Given the description of an element on the screen output the (x, y) to click on. 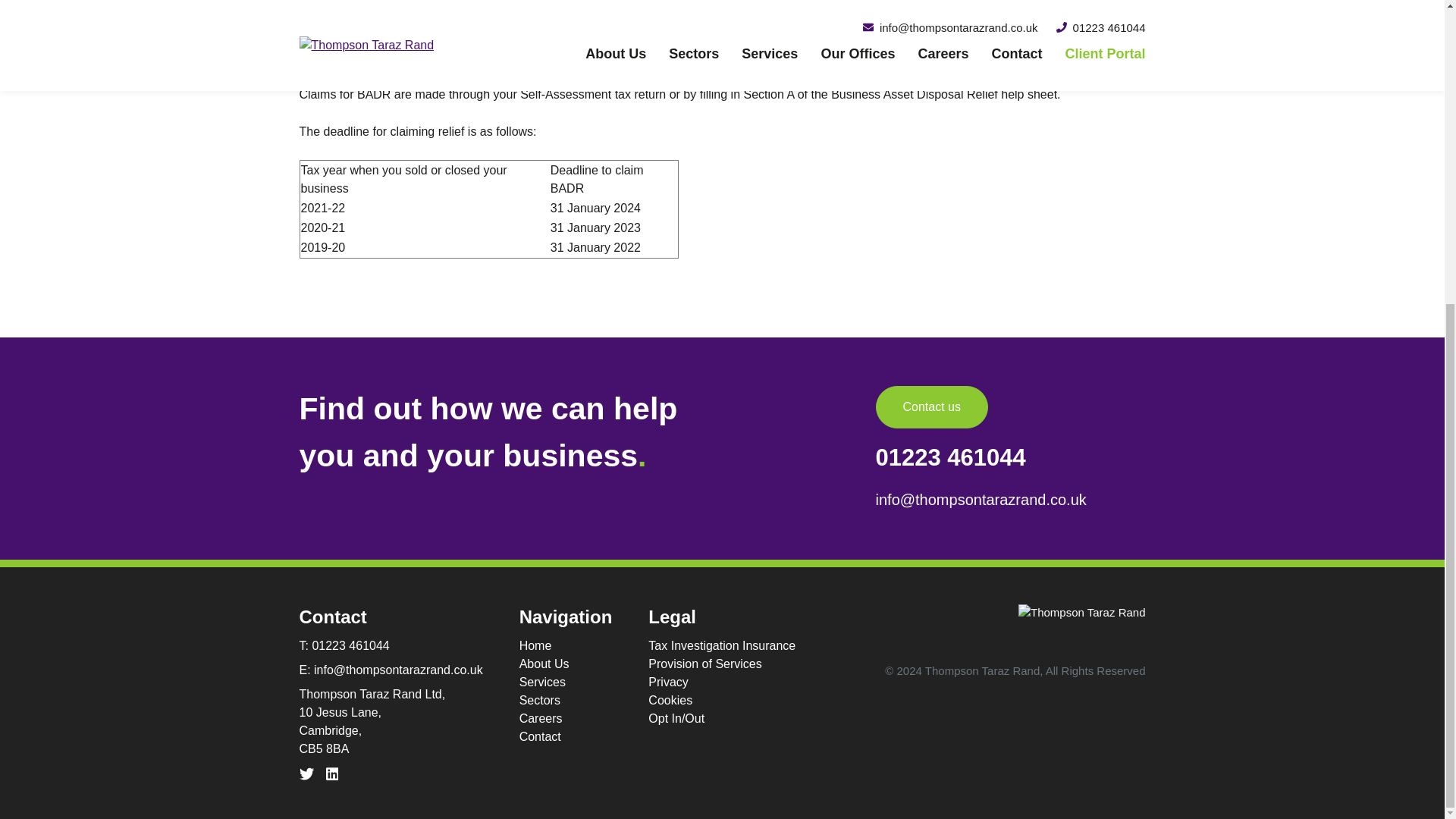
Home (565, 646)
Services (565, 682)
01223 461044 (951, 457)
Sectors (565, 700)
Contact us (932, 406)
Contact (565, 737)
01223 461044 (349, 645)
About Us (565, 664)
Careers (565, 719)
